Given the description of an element on the screen output the (x, y) to click on. 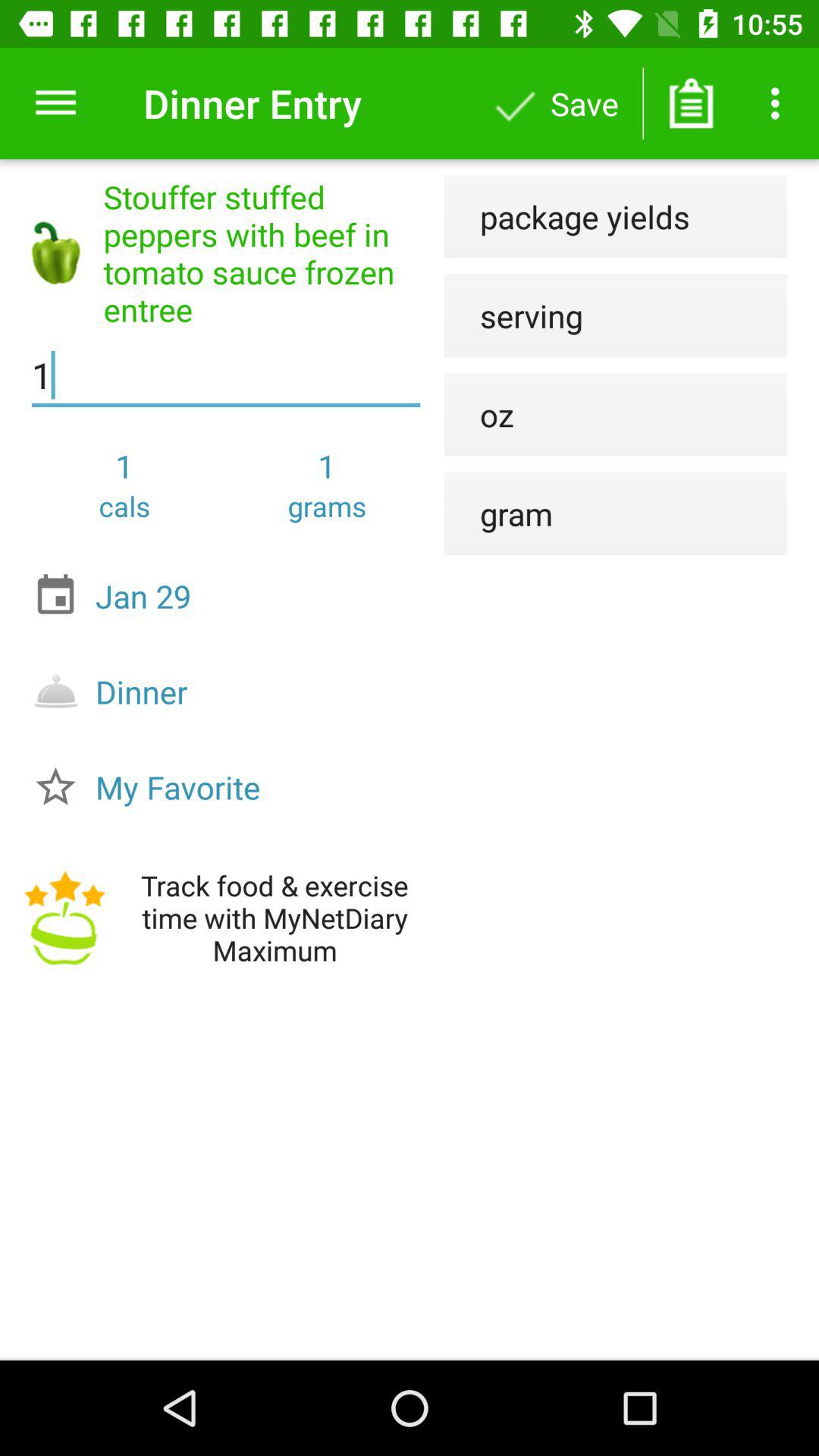
turn off the item above   oz item (513, 315)
